Given the description of an element on the screen output the (x, y) to click on. 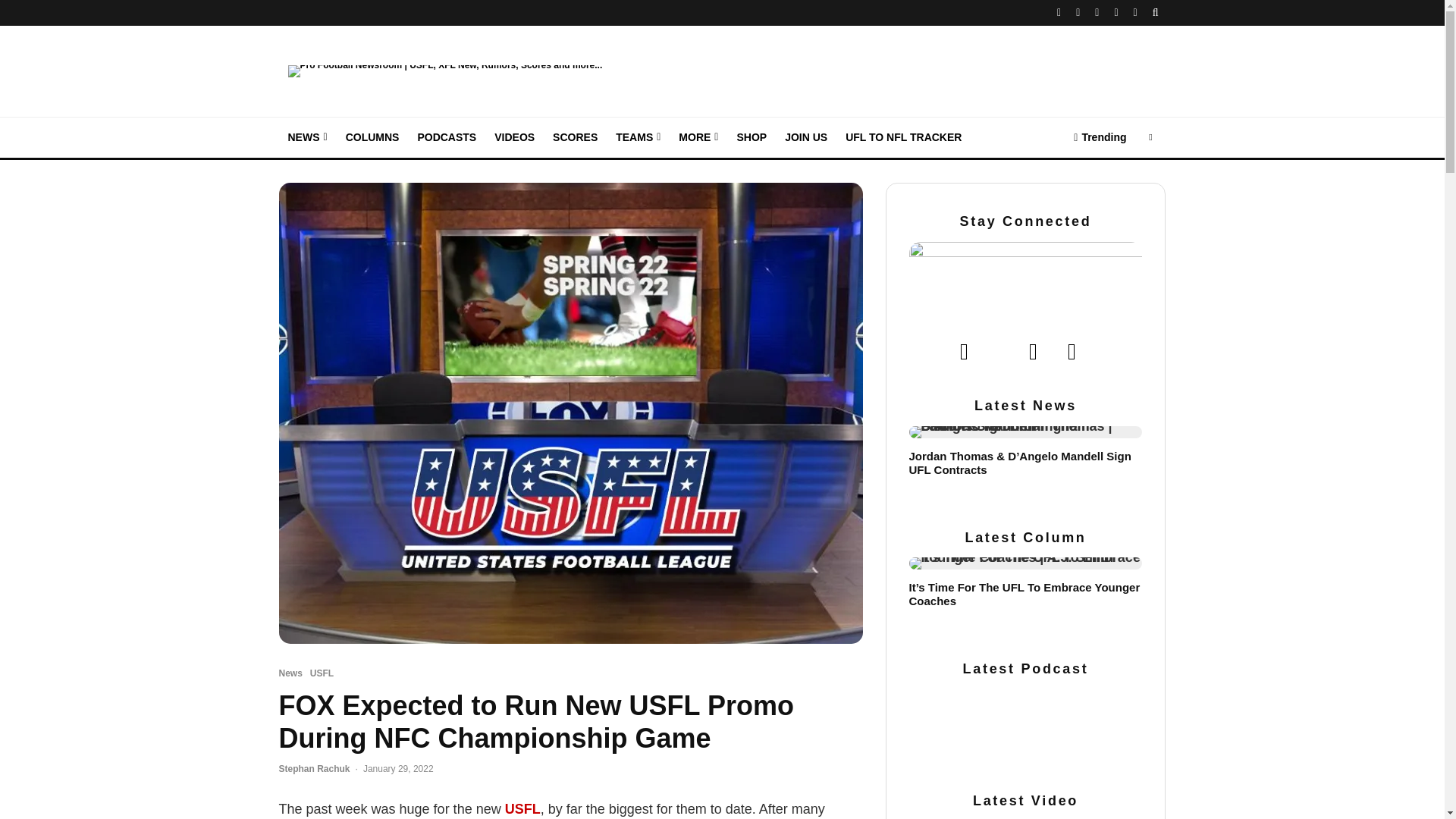
NEWS (307, 137)
Posts by Stephan Rachuk (314, 768)
COLUMNS (372, 137)
PODCASTS (445, 137)
